Given the description of an element on the screen output the (x, y) to click on. 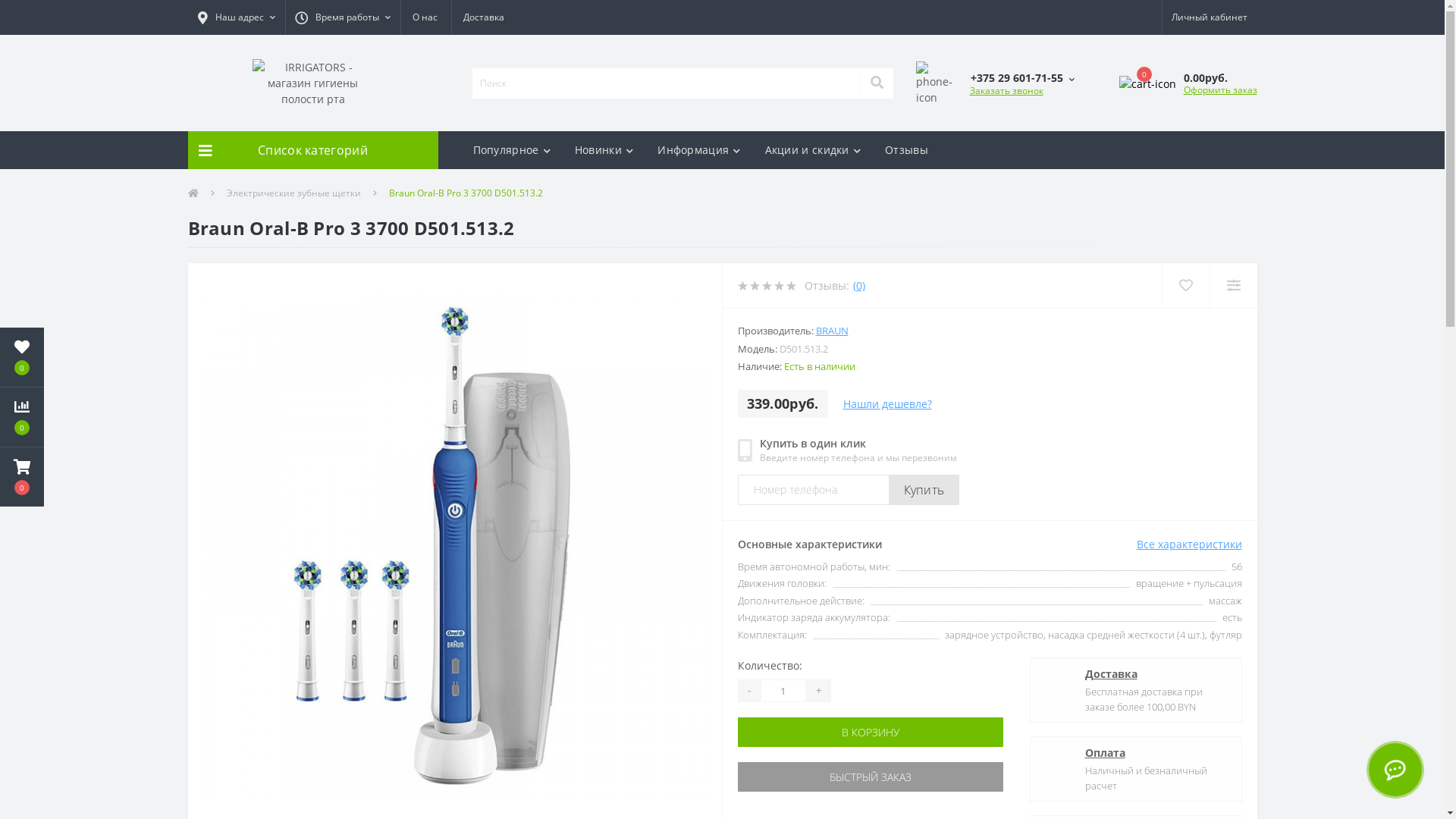
+ Element type: text (817, 690)
Braun Oral-B Pro 3 3700 D501.513.2 Element type: hover (454, 545)
0 Element type: text (21, 356)
0 Element type: text (21, 476)
+375 29 601-71-55 Element type: text (1021, 77)
0 Element type: text (1147, 82)
(0) Element type: text (858, 285)
BRAUN Element type: text (831, 330)
- Element type: text (748, 690)
0 Element type: text (21, 416)
